Given the description of an element on the screen output the (x, y) to click on. 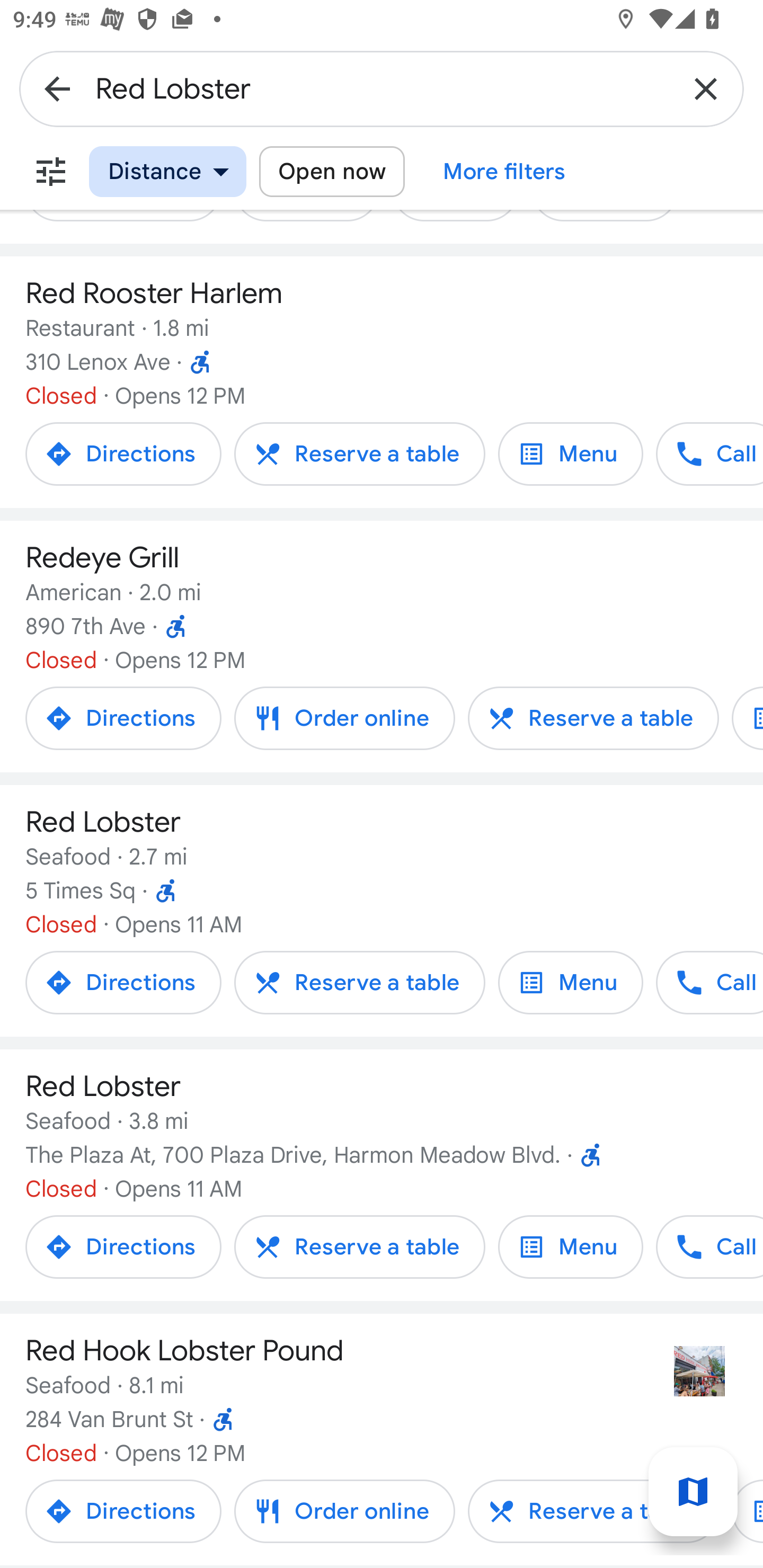
Back (57, 88)
Red Lobster (381, 88)
Clear (705, 88)
More filters (50, 171)
Distance (167, 171)
Open now (332, 171)
More filters (504, 171)
Reserve a table Reserve a table Reserve a table (359, 453)
Order online Order online Order online (344, 717)
Reserve a table Reserve a table Reserve a table (592, 717)
Reserve a table Reserve a table Reserve a table (359, 981)
Red Lobster Menu Menu Red Lobster Menu (570, 981)
Reserve a table Reserve a table Reserve a table (359, 1246)
Red Lobster Menu Menu Red Lobster Menu (570, 1246)
Order online Order online Order online (344, 1511)
Reserve a table Reserve a table Reserve a table (592, 1511)
